Given the description of an element on the screen output the (x, y) to click on. 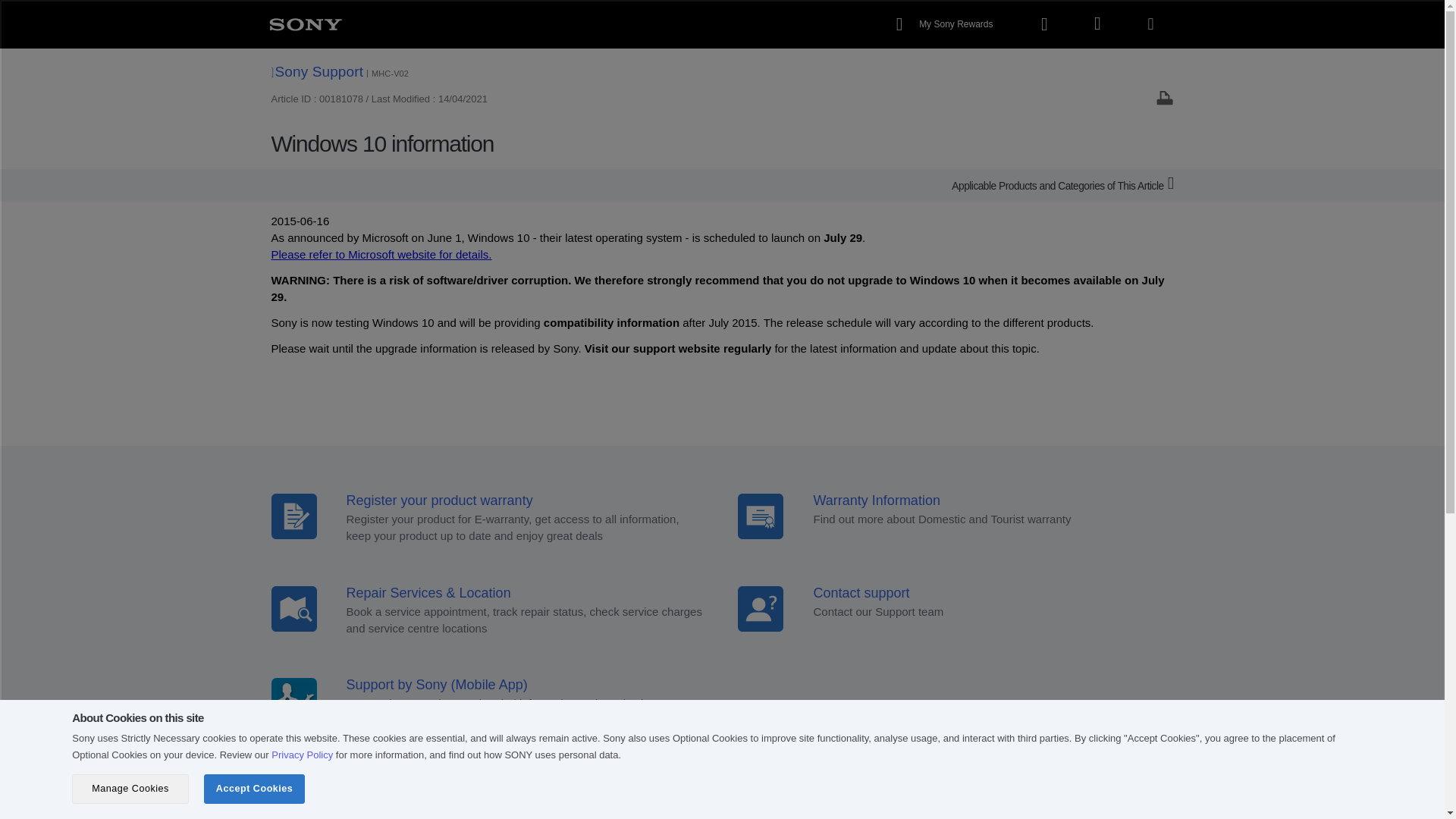
Contact Us (710, 799)
Print (1164, 97)
My Sony Rewards (946, 24)
